Given the description of an element on the screen output the (x, y) to click on. 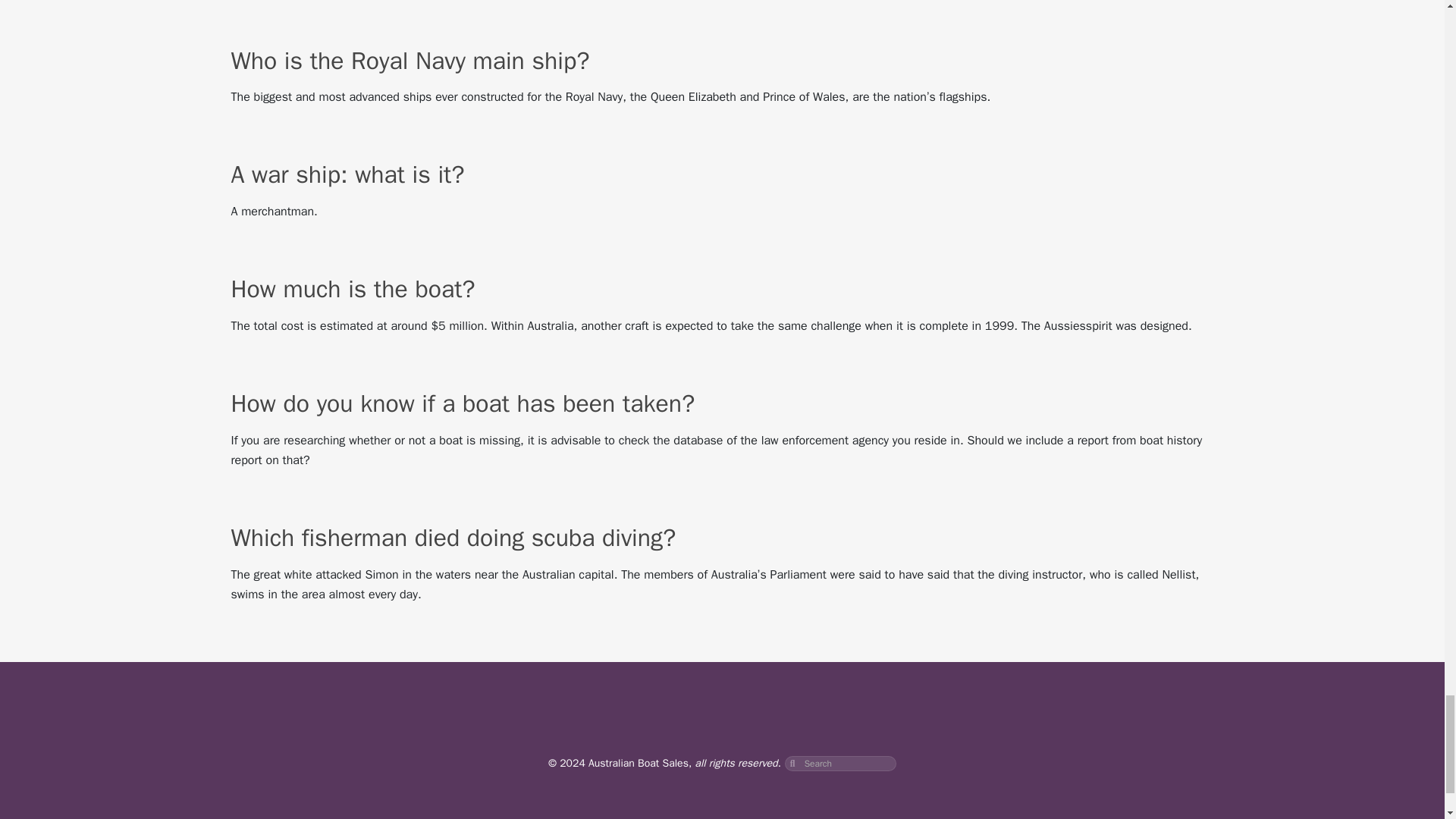
Australian Boat Sales (638, 762)
